Given the description of an element on the screen output the (x, y) to click on. 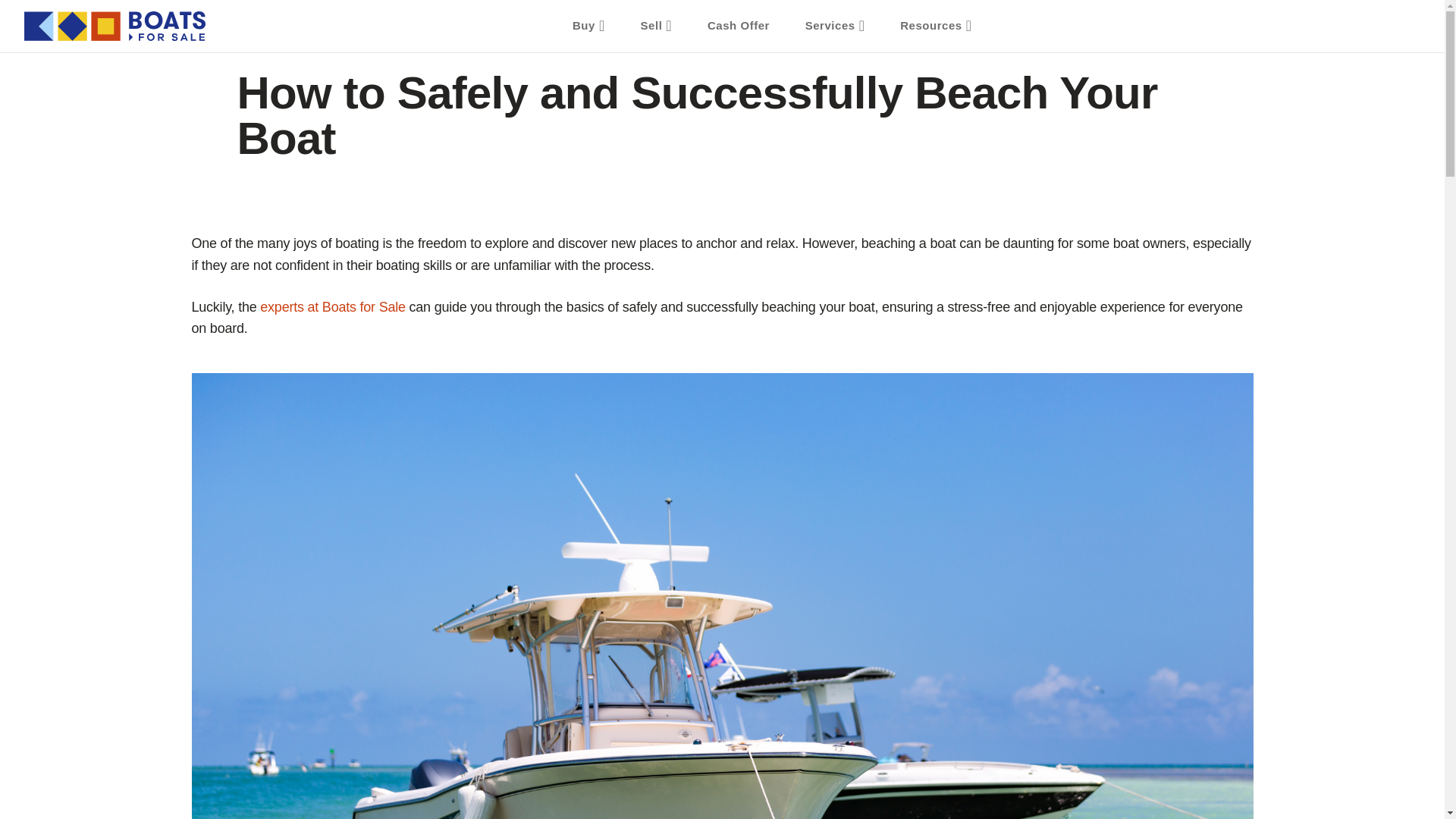
Buy (588, 26)
Cash Offer (738, 26)
Sell (656, 26)
experts at Boats for Sale (332, 308)
Resources (936, 26)
Services (835, 26)
